Given the description of an element on the screen output the (x, y) to click on. 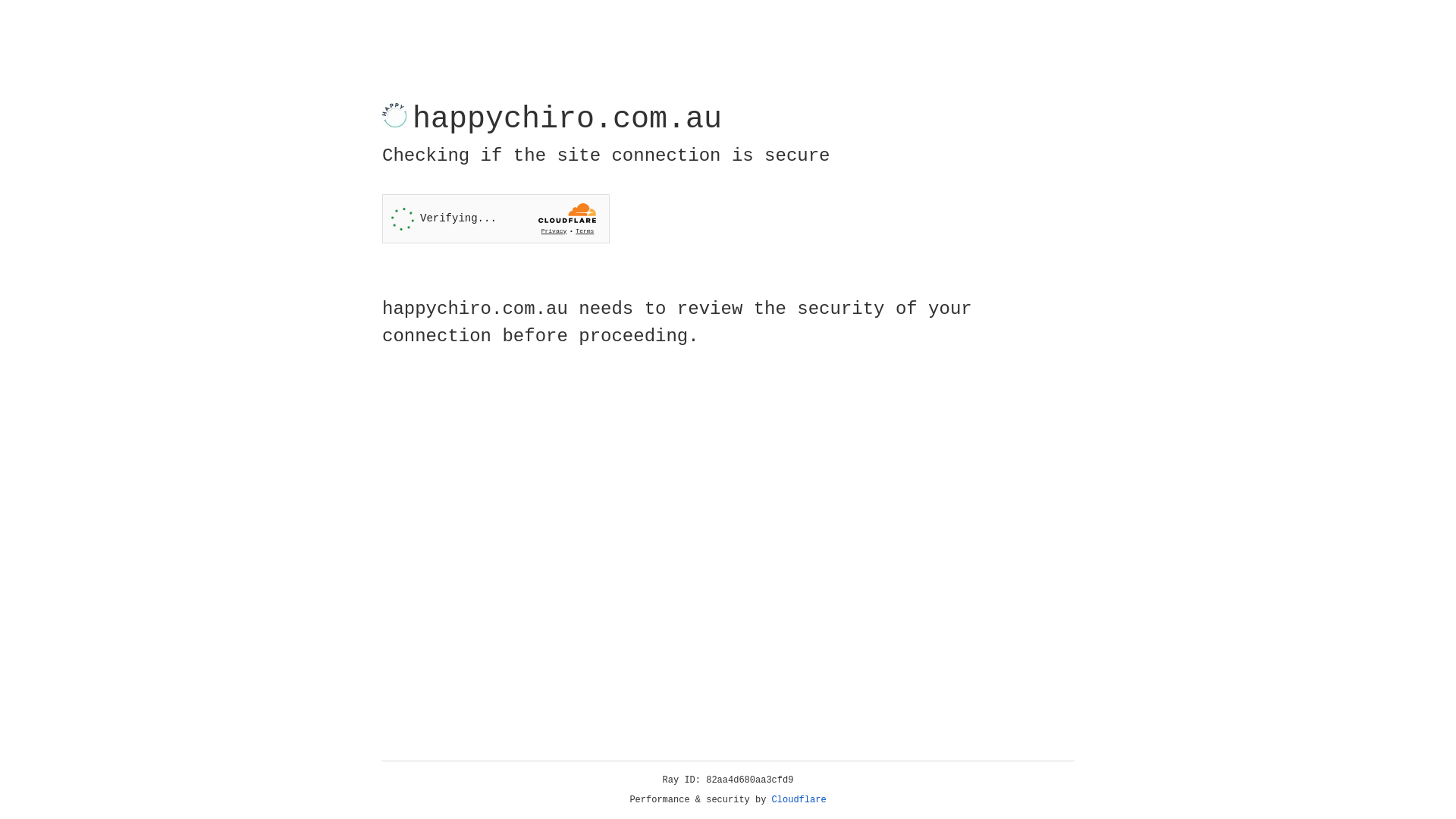
Widget containing a Cloudflare security challenge Element type: hover (495, 218)
Cloudflare Element type: text (798, 799)
